Given the description of an element on the screen output the (x, y) to click on. 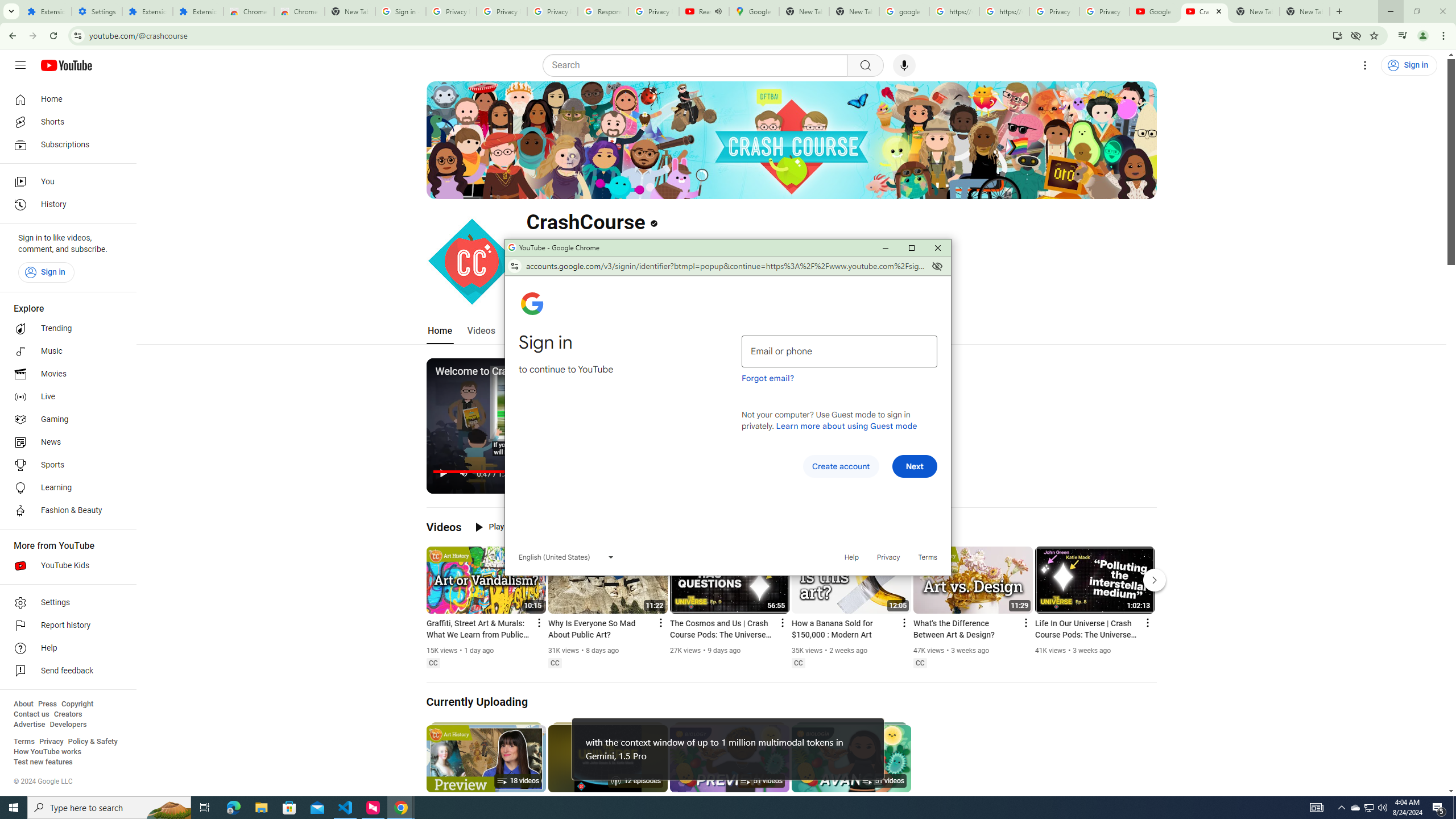
New Tab (350, 11)
Chrome Web Store - Themes (299, 11)
Copyright (77, 703)
Sign in - Google Accounts (399, 11)
Live (64, 396)
Q2790: 100% (1382, 807)
Create account (840, 466)
Settings (64, 602)
Home (64, 99)
Extensions (146, 11)
Advertise (29, 724)
YouTube Kids (64, 565)
YouTube Home (66, 65)
